Given the description of an element on the screen output the (x, y) to click on. 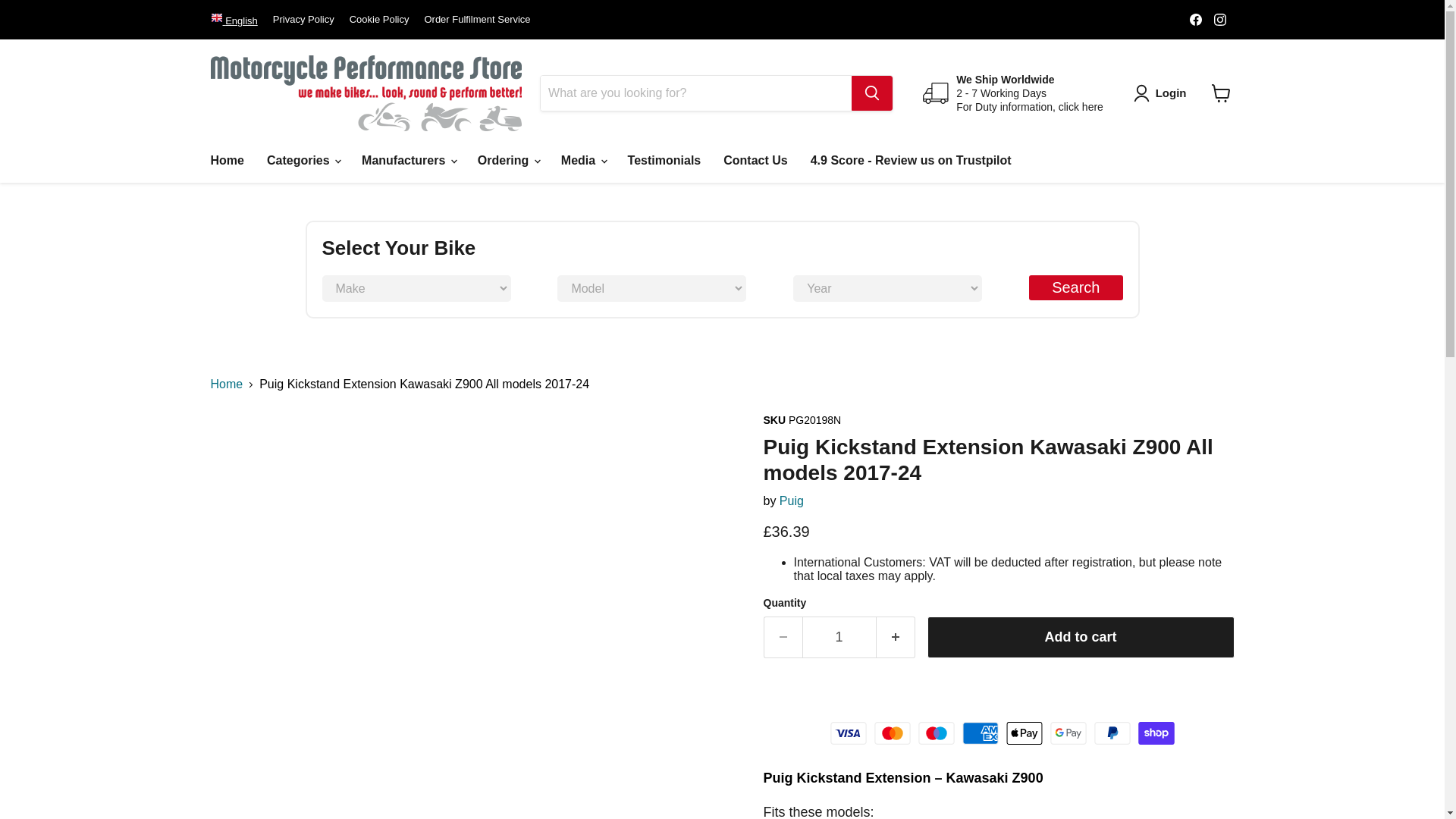
English (234, 19)
1 (839, 637)
